Given the description of an element on the screen output the (x, y) to click on. 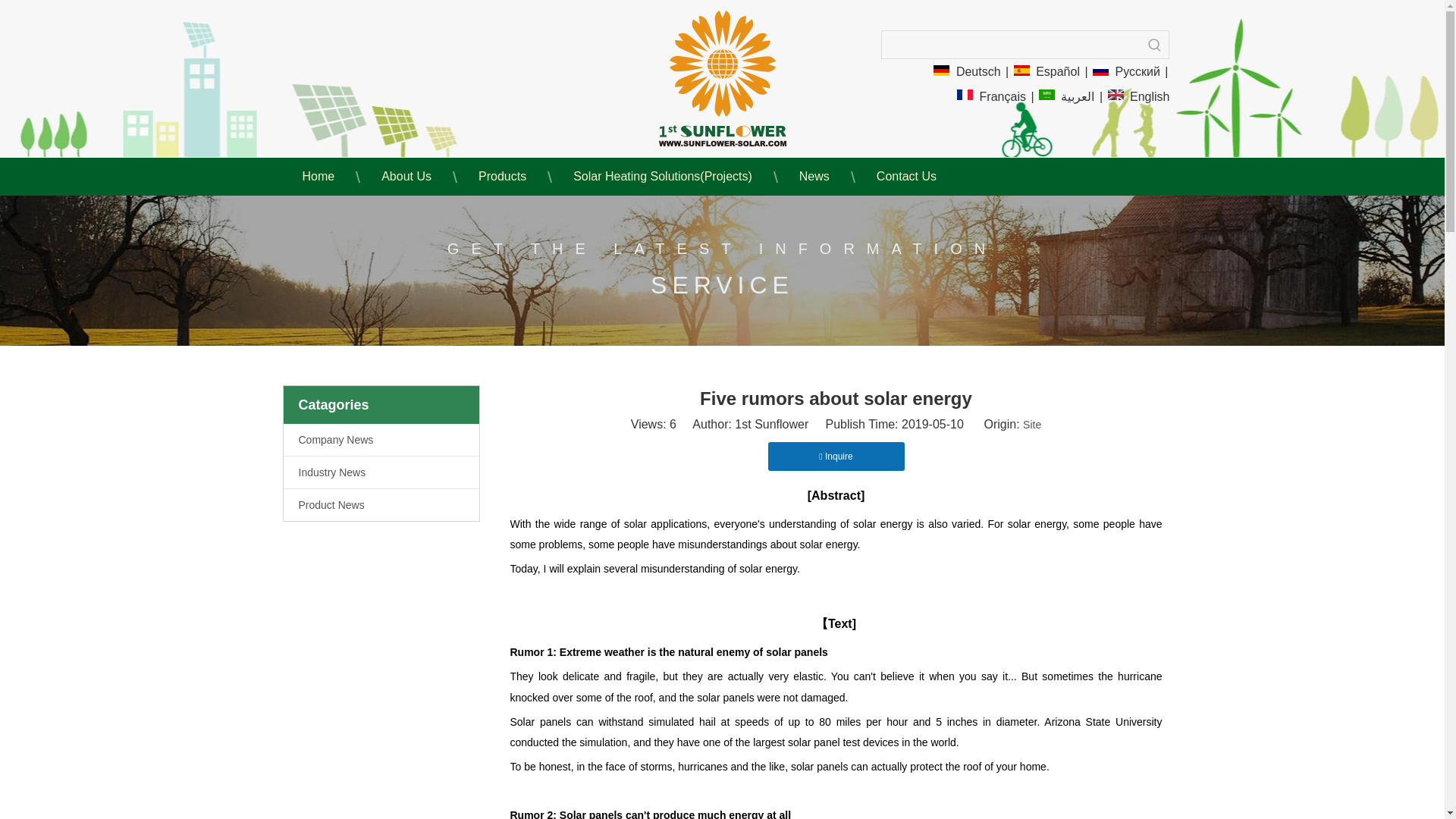
sunflower solar (722, 78)
Product News (381, 504)
Deutsch (966, 71)
Home (314, 176)
Products (498, 176)
Industry News (381, 472)
About Us (402, 176)
Company News (381, 439)
English (1139, 96)
